Given the description of an element on the screen output the (x, y) to click on. 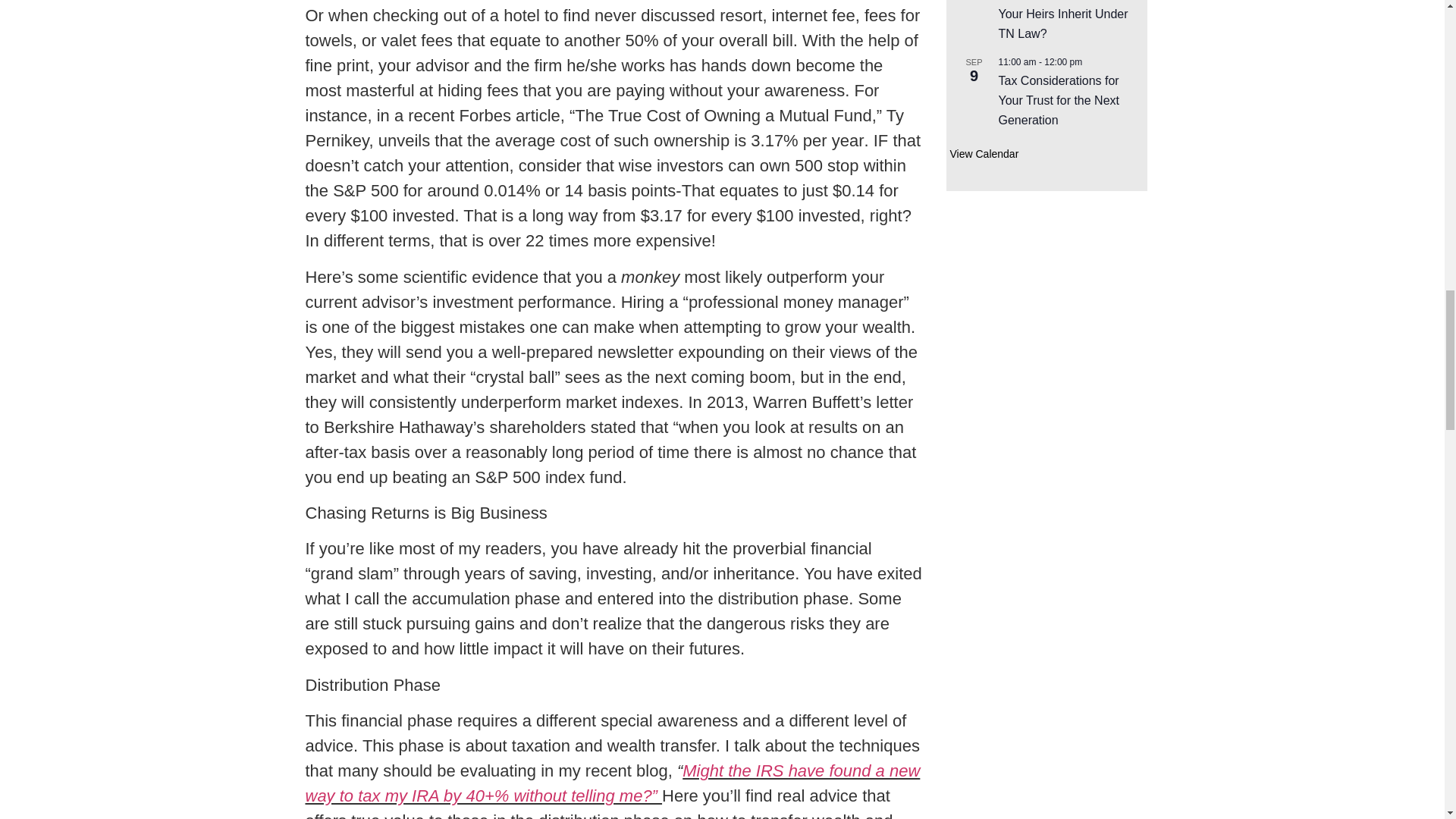
View more events. (983, 154)
Tax Considerations for Your Trust for the Next Generation (1057, 100)
